Given the description of an element on the screen output the (x, y) to click on. 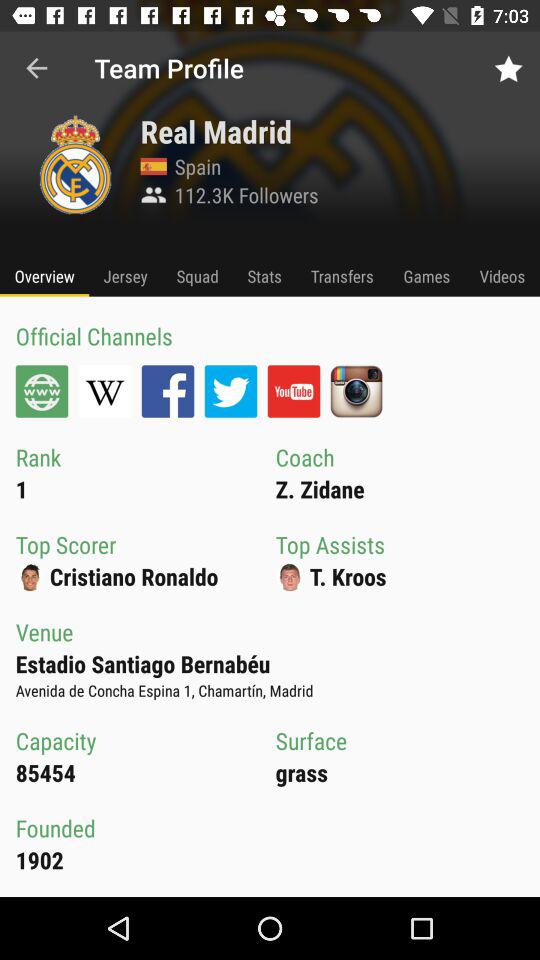
the icon represented to goto facebook application (167, 391)
